Given the description of an element on the screen output the (x, y) to click on. 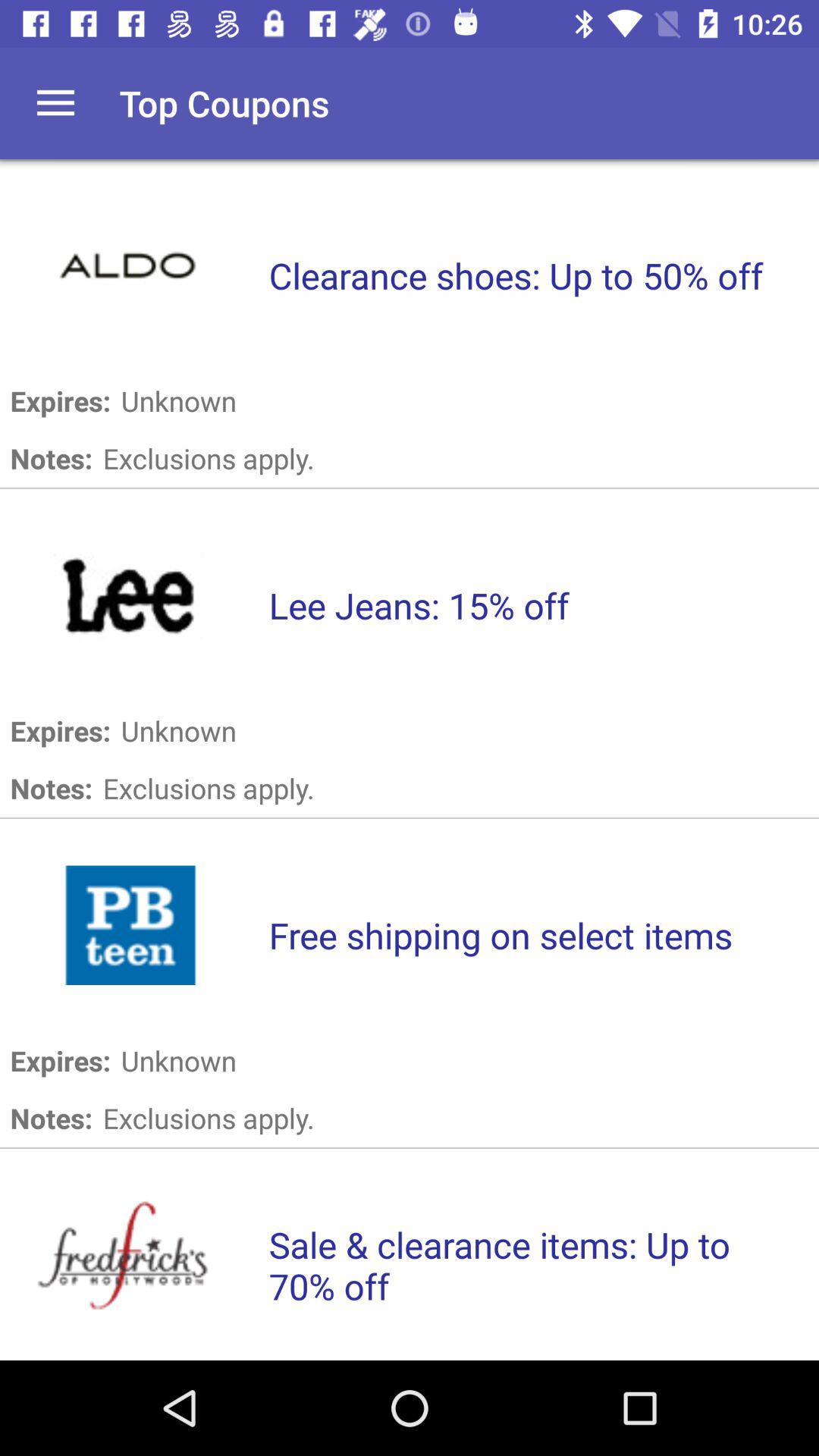
more apps (55, 103)
